Given the description of an element on the screen output the (x, y) to click on. 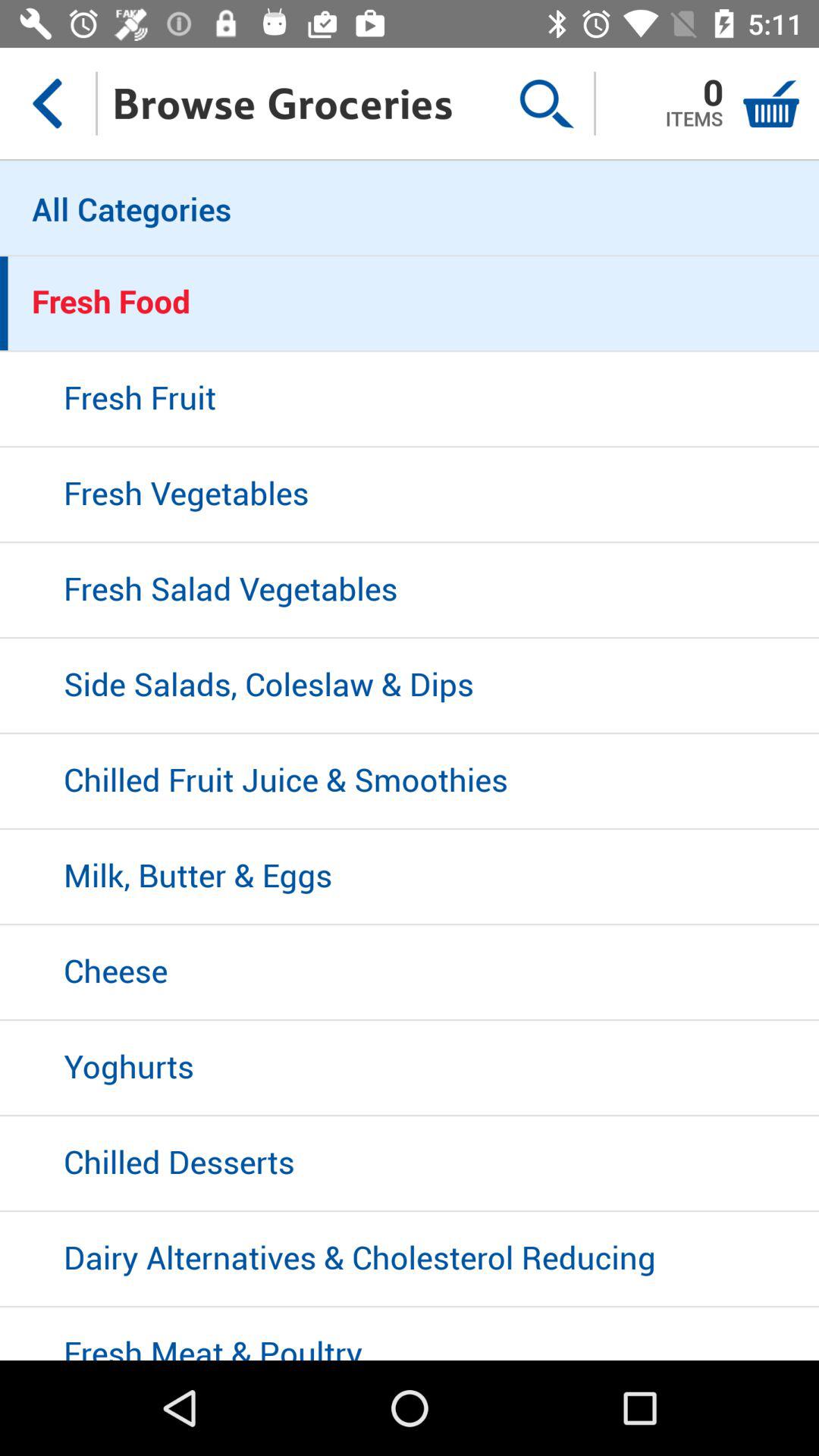
choose icon above milk, butter & eggs item (409, 781)
